Given the description of an element on the screen output the (x, y) to click on. 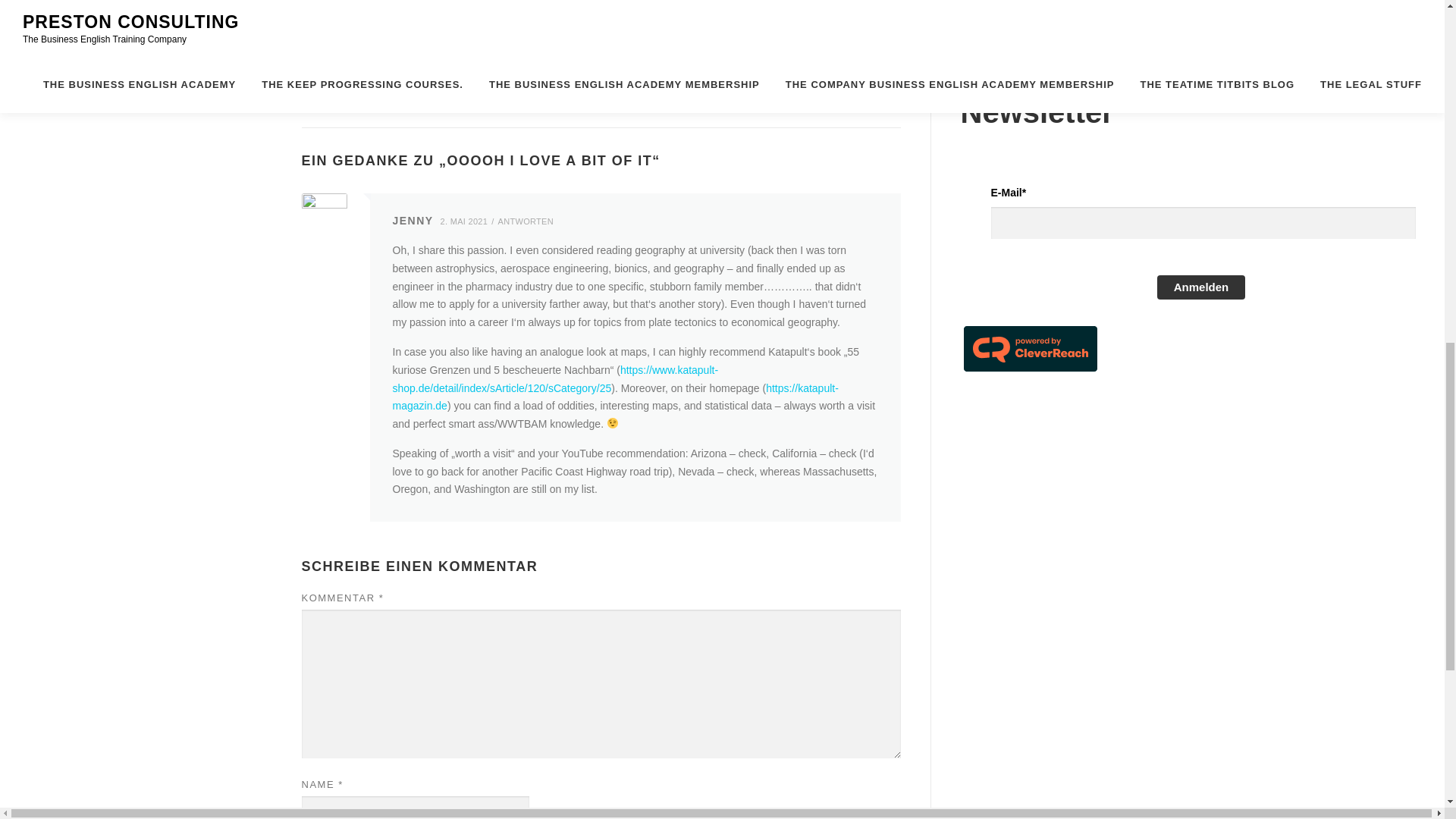
Anmelden (1201, 287)
MISCELLANEOUS (464, 96)
ANTWORTEN (528, 221)
2. MAI 2021 (469, 221)
